Given the description of an element on the screen output the (x, y) to click on. 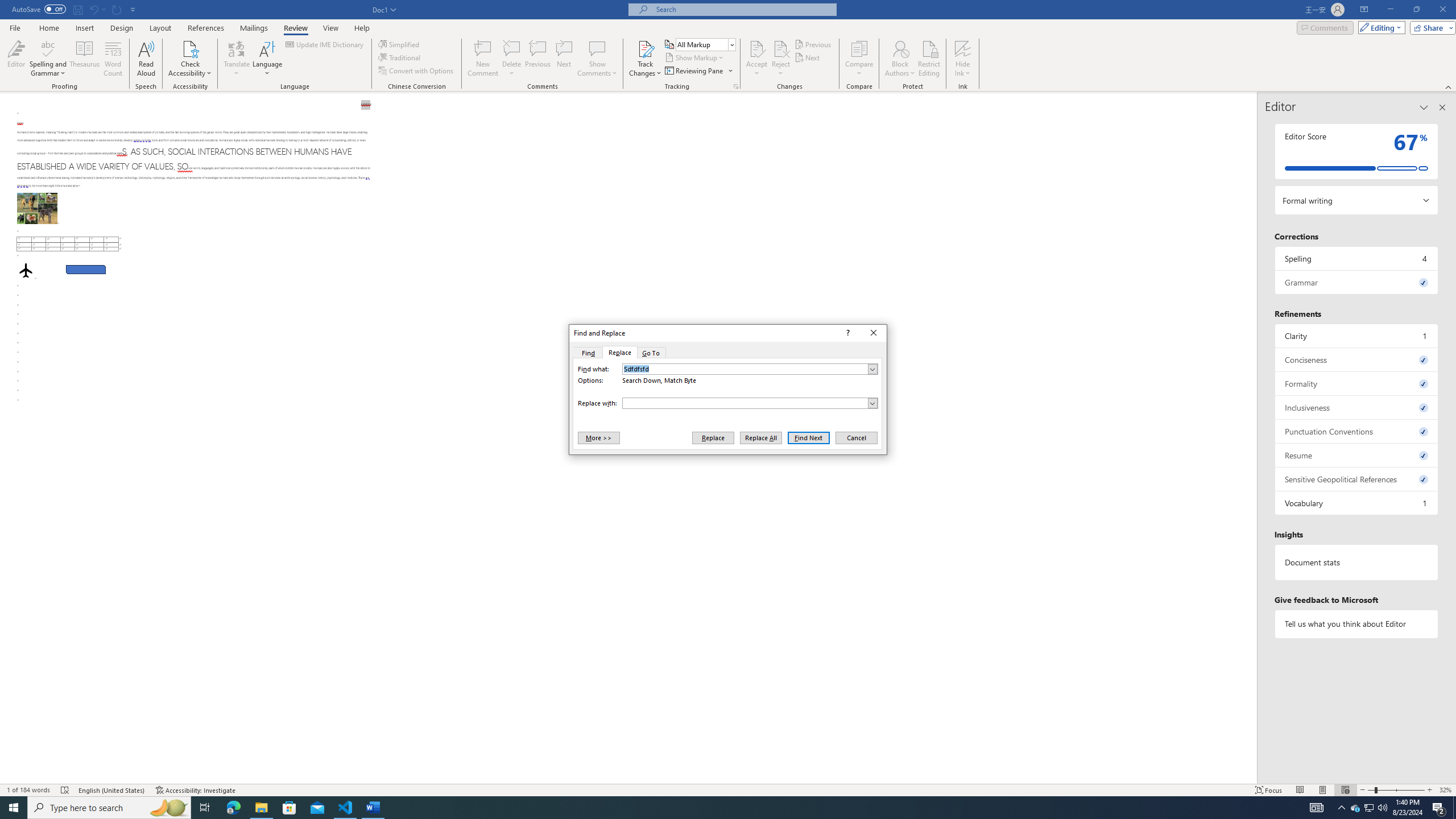
Microsoft Edge (233, 807)
Spelling, 4 issues. Press space or enter to review items. (1356, 258)
Simplified (400, 44)
Replace All (761, 437)
Delete (511, 48)
Undo Paragraph Alignment (96, 9)
Formality, 0 issues. Press space or enter to review items. (1356, 383)
Replace (713, 437)
Notification Chevron (1341, 807)
Accept (756, 58)
